Given the description of an element on the screen output the (x, y) to click on. 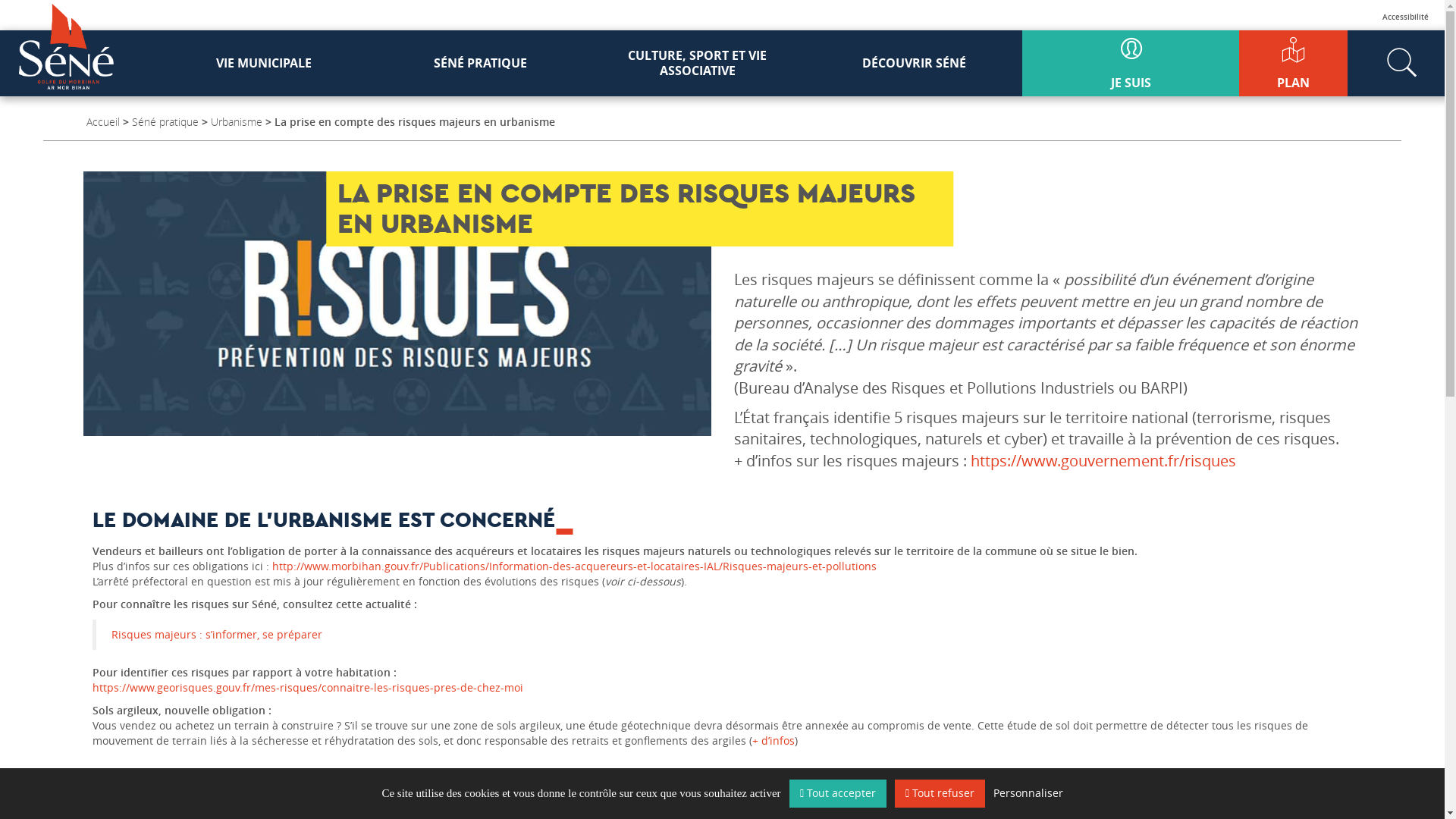
Personnaliser Element type: text (1028, 793)
PLAN Element type: text (1293, 63)
Accueil Element type: text (102, 121)
https://www.gouvernement.fr/risques Element type: text (1103, 460)
VIE MUNICIPALE Element type: text (263, 63)
JE SUIS Element type: text (1130, 63)
Tout accepter Element type: text (837, 793)
Urbanisme Element type: text (236, 121)
Tout refuser Element type: text (939, 793)
CULTURE, SPORT ET VIE ASSOCIATIVE Element type: text (697, 63)
